Given the description of an element on the screen output the (x, y) to click on. 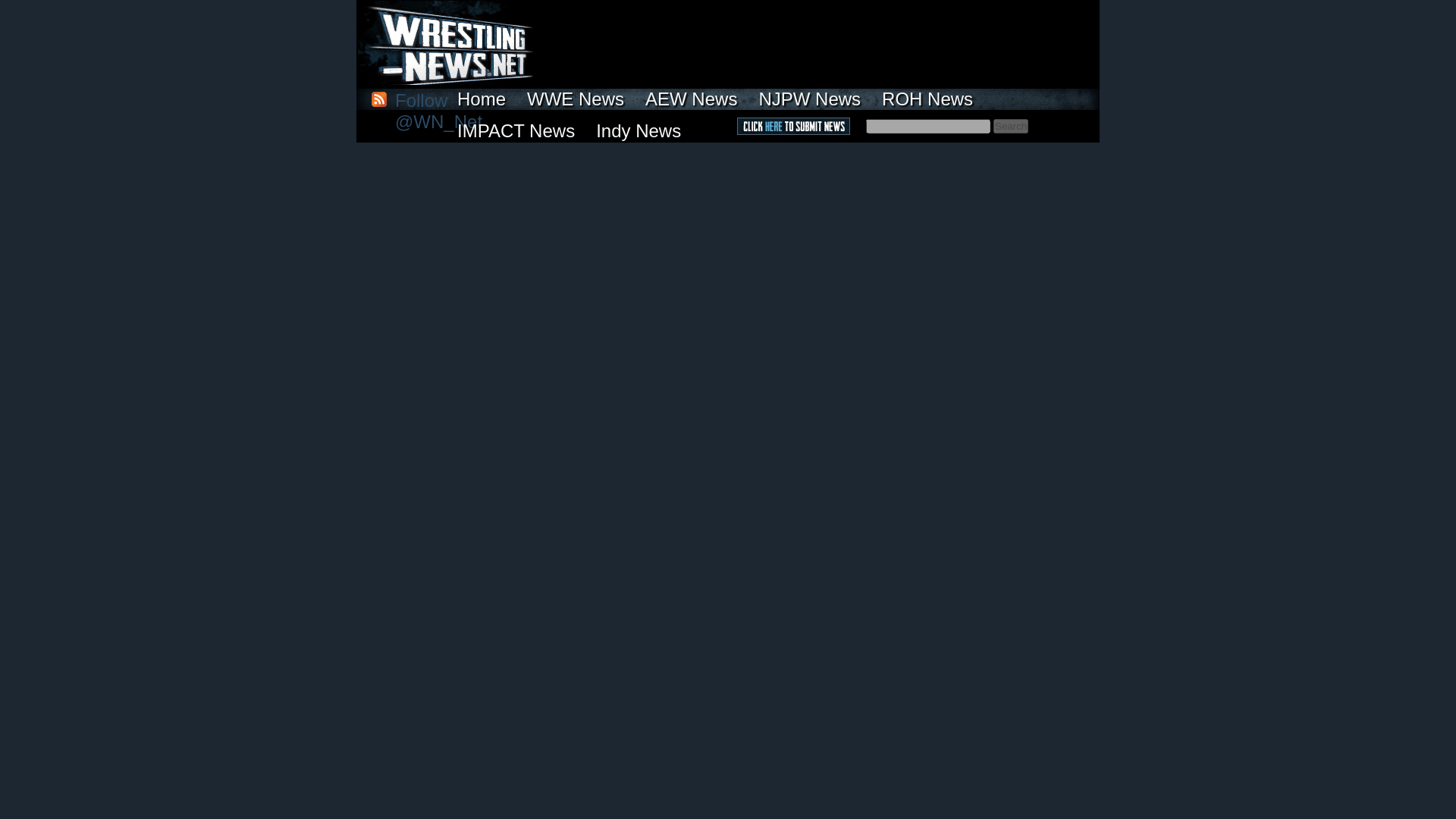
Indy News (638, 130)
ROH News (927, 98)
NJPW News (809, 98)
Search (1009, 125)
AEW News (691, 98)
Search (1009, 125)
Home (481, 98)
WWE News (575, 98)
IMPACT News (515, 130)
